Given the description of an element on the screen output the (x, y) to click on. 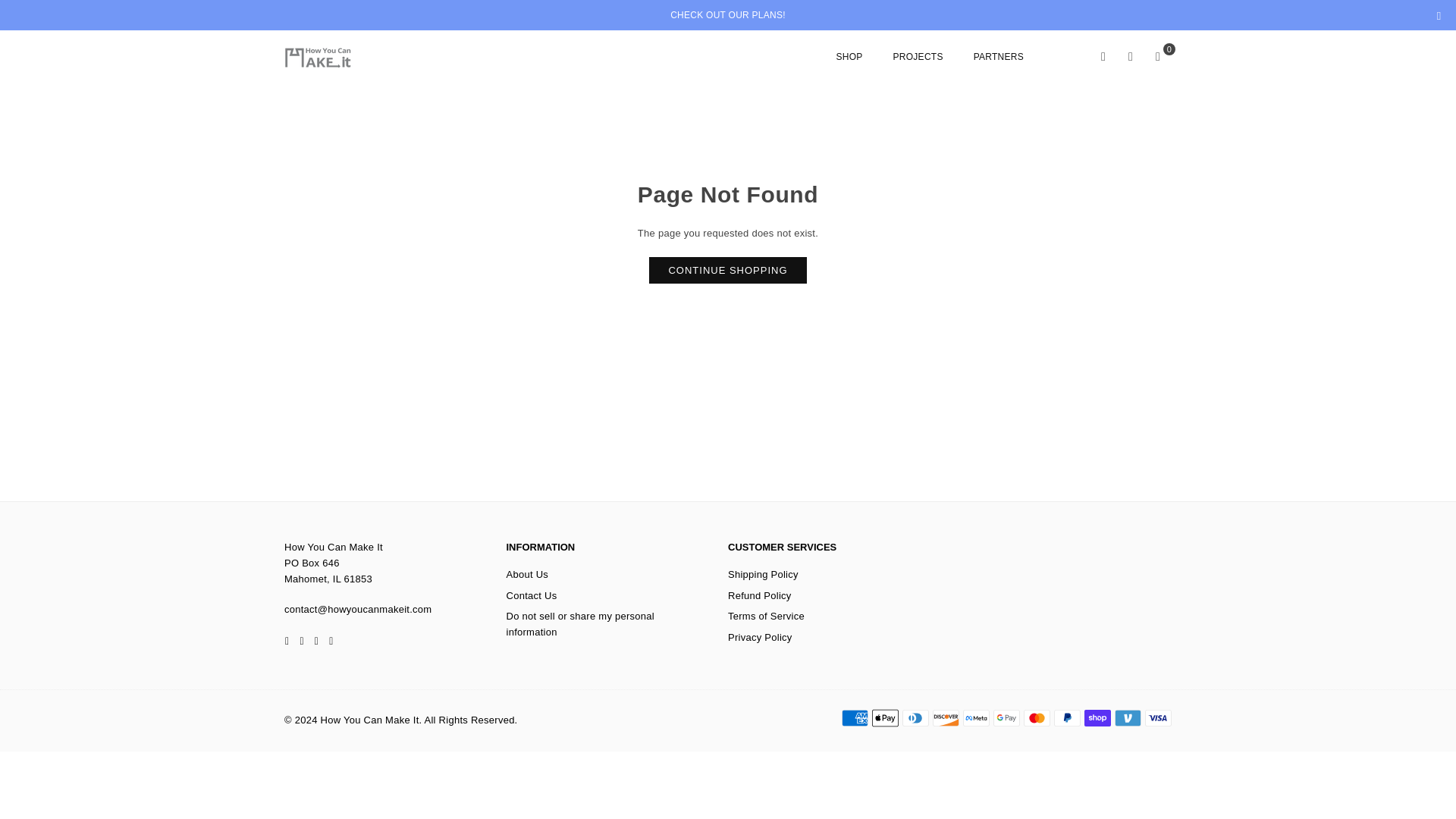
Google Pay (1006, 718)
Meta Pay (976, 718)
Diners Club (915, 718)
How You Can Make It on Facebook (286, 641)
Instagram (330, 641)
0 (1158, 56)
Settings (1130, 56)
Do not sell or share my personal information (579, 624)
Refund Policy (760, 595)
SHOP (850, 56)
Contact Us (531, 595)
Pinterest (315, 641)
Facebook (286, 641)
How You Can Make It on Twitter (301, 641)
American Express (854, 718)
